Given the description of an element on the screen output the (x, y) to click on. 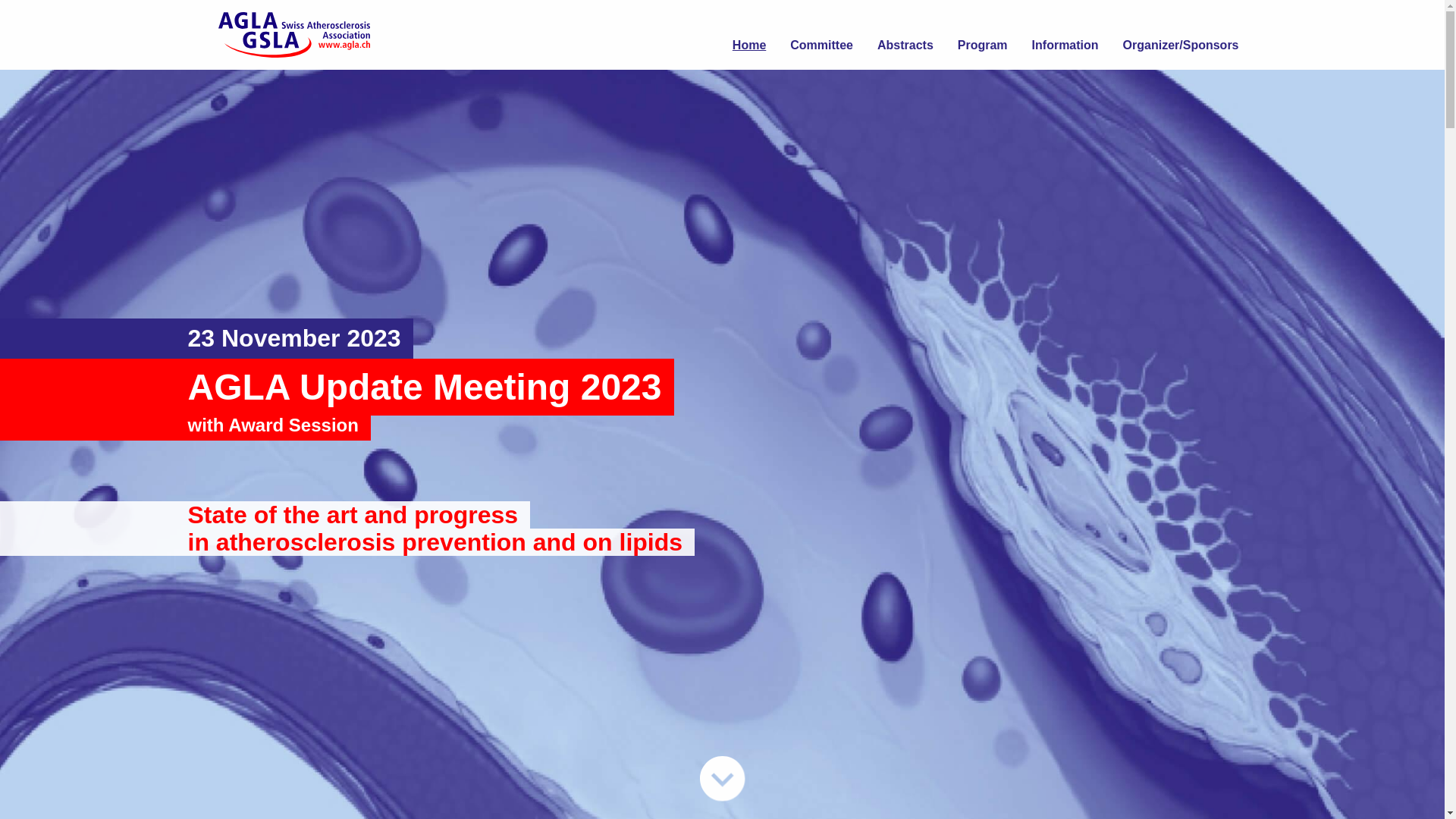
Committee Element type: text (821, 34)
Abstracts Element type: text (905, 34)
Organizer/Sponsors Element type: text (1180, 34)
Home Element type: text (749, 34)
Program Element type: text (982, 34)
Information Element type: text (1064, 34)
